Given the description of an element on the screen output the (x, y) to click on. 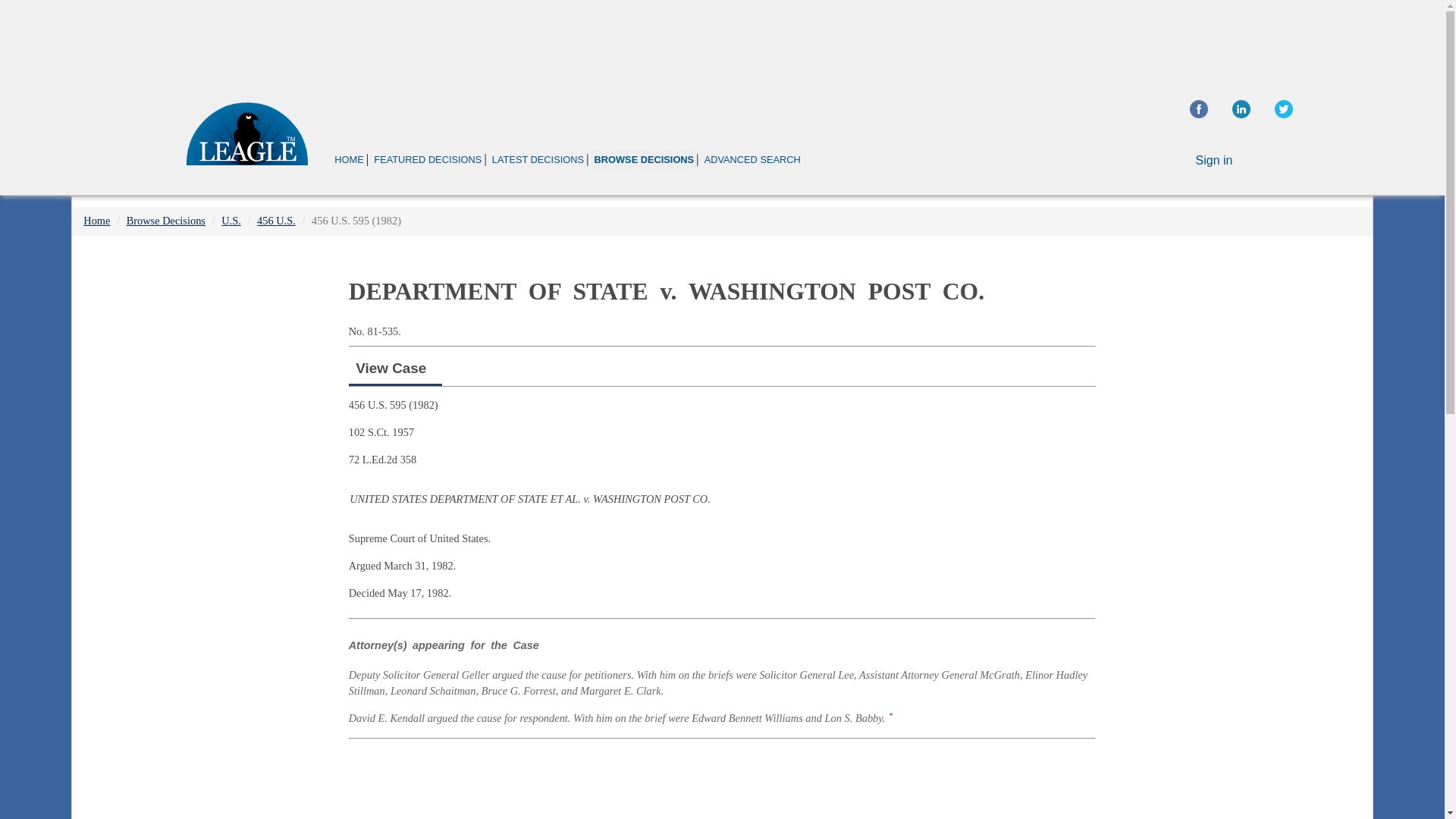
FEATURED DECISIONS (427, 159)
Advertisement (1242, 356)
U.S. (231, 220)
ADVANCED SEARCH (752, 159)
Advertisement (721, 41)
LATEST DECISIONS (537, 159)
456 U.S. (276, 220)
Browse Decisions (165, 220)
View Case (390, 367)
HOME (348, 159)
